Given the description of an element on the screen output the (x, y) to click on. 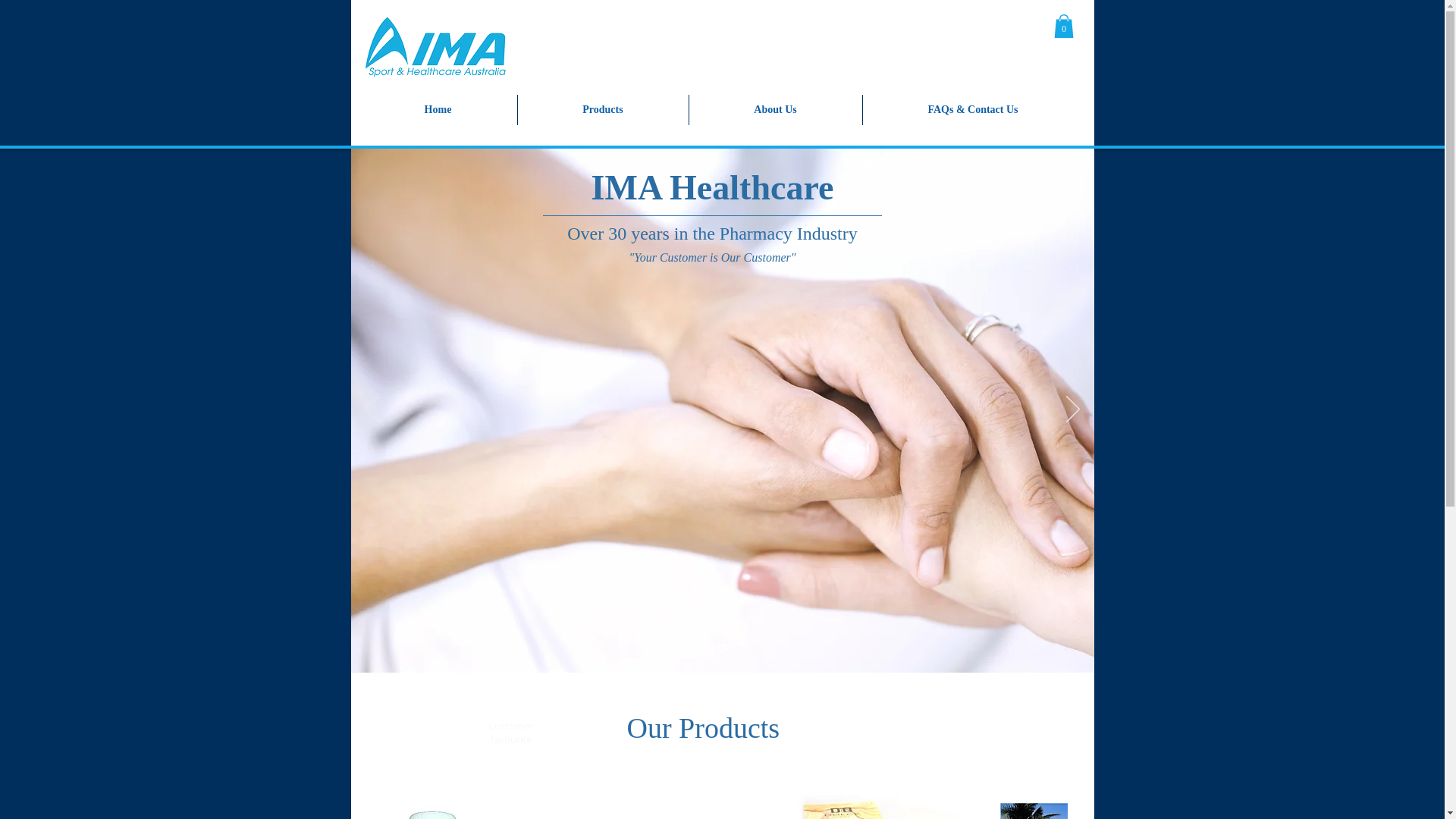
FAQs & Contact Us Element type: text (972, 109)
Products Element type: text (602, 109)
0 Element type: text (1063, 25)
About Us Element type: text (774, 109)
Home Element type: text (438, 109)
